Given the description of an element on the screen output the (x, y) to click on. 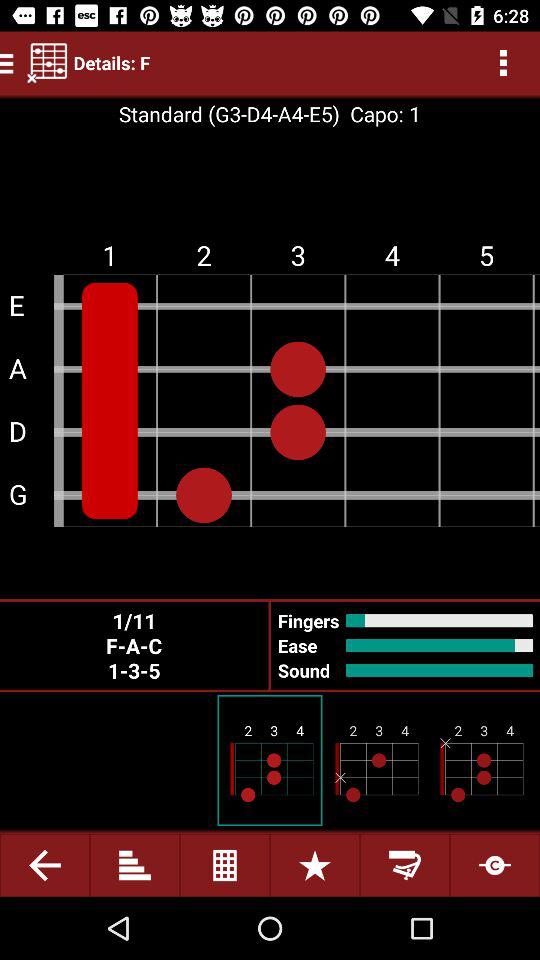
open the icon to the right of the standard g3 d4 item (379, 113)
